Given the description of an element on the screen output the (x, y) to click on. 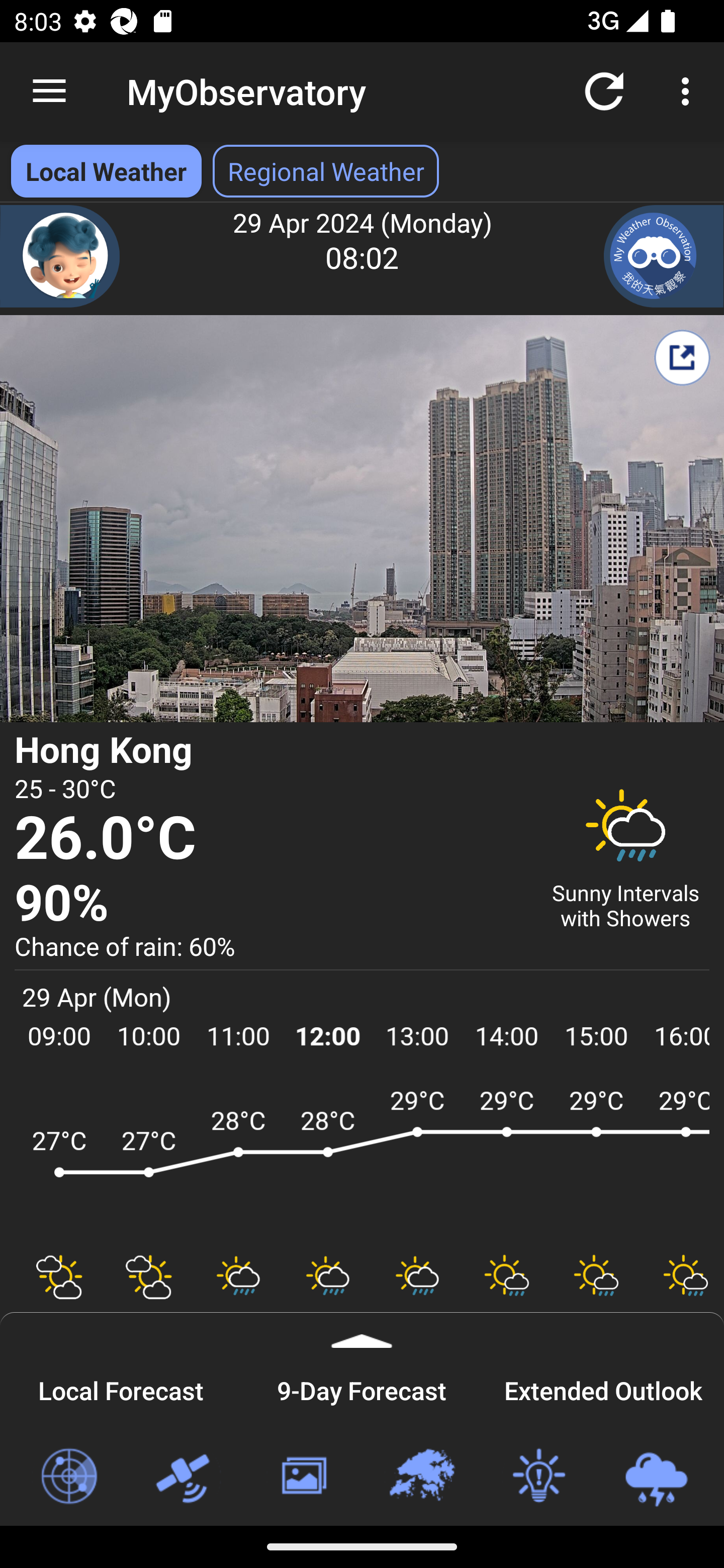
Navigate up (49, 91)
Refresh (604, 90)
More options (688, 90)
Local Weather Local Weather selected (105, 170)
Regional Weather Select Regional Weather (325, 170)
Chatbot (60, 256)
My Weather Observation (663, 256)
Share My Weather Report (681, 357)
26.0°C Temperature
26.0 degree Celsius (270, 839)
90% Relative Humidity
90 percent (270, 903)
ARWF (361, 1160)
Expand (362, 1330)
Local Forecast (120, 1387)
Extended Outlook (603, 1387)
Radar Images (68, 1476)
Satellite Images (185, 1476)
Weather Photos (302, 1476)
Regional Weather (420, 1476)
Weather Tips (537, 1476)
Loc-based Rain & Lightning Forecast (655, 1476)
